Given the description of an element on the screen output the (x, y) to click on. 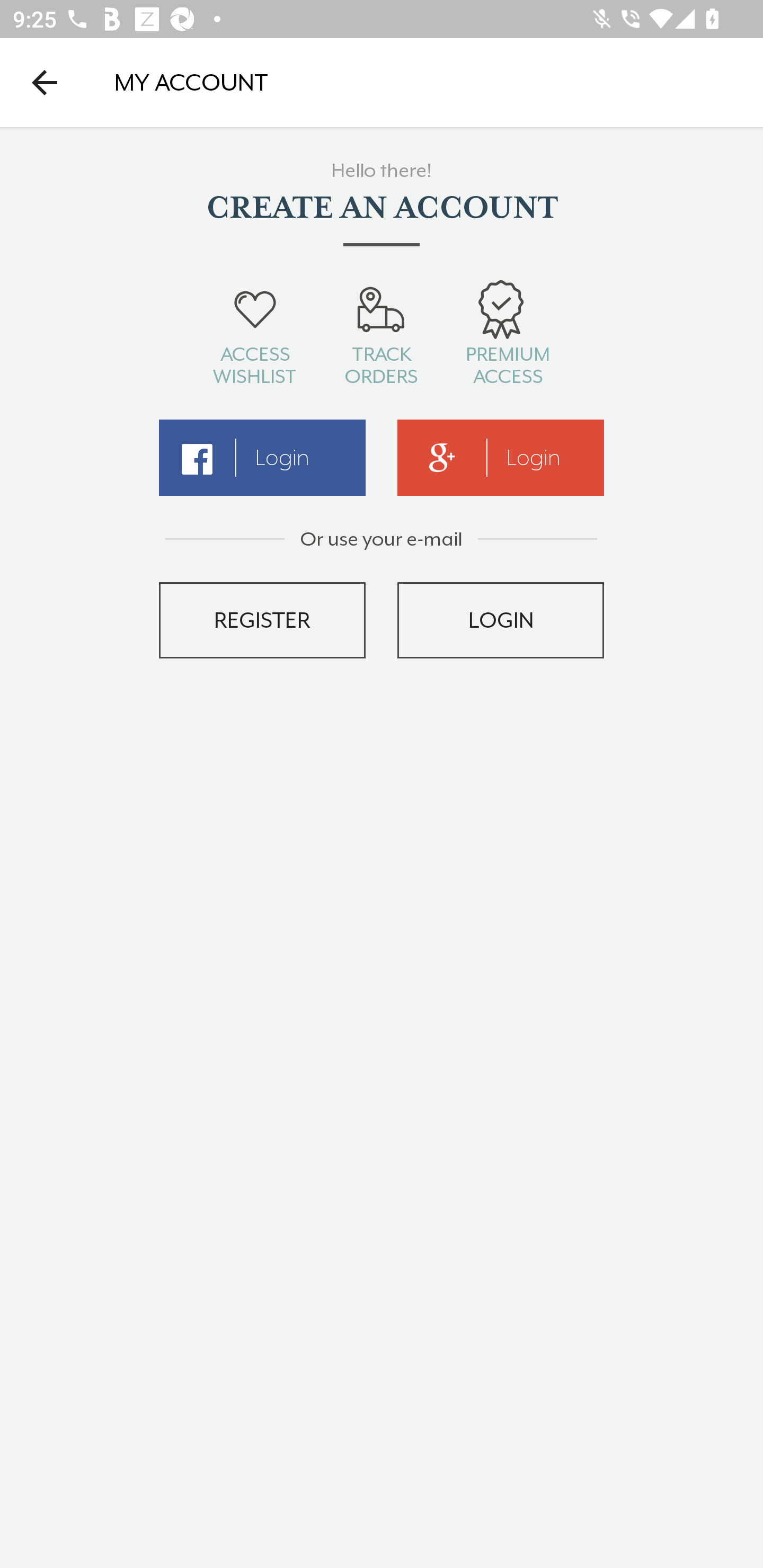
Navigate up (44, 82)
 Login (261, 457)
Login (500, 457)
REGISTER (261, 619)
LOGIN (500, 619)
